Given the description of an element on the screen output the (x, y) to click on. 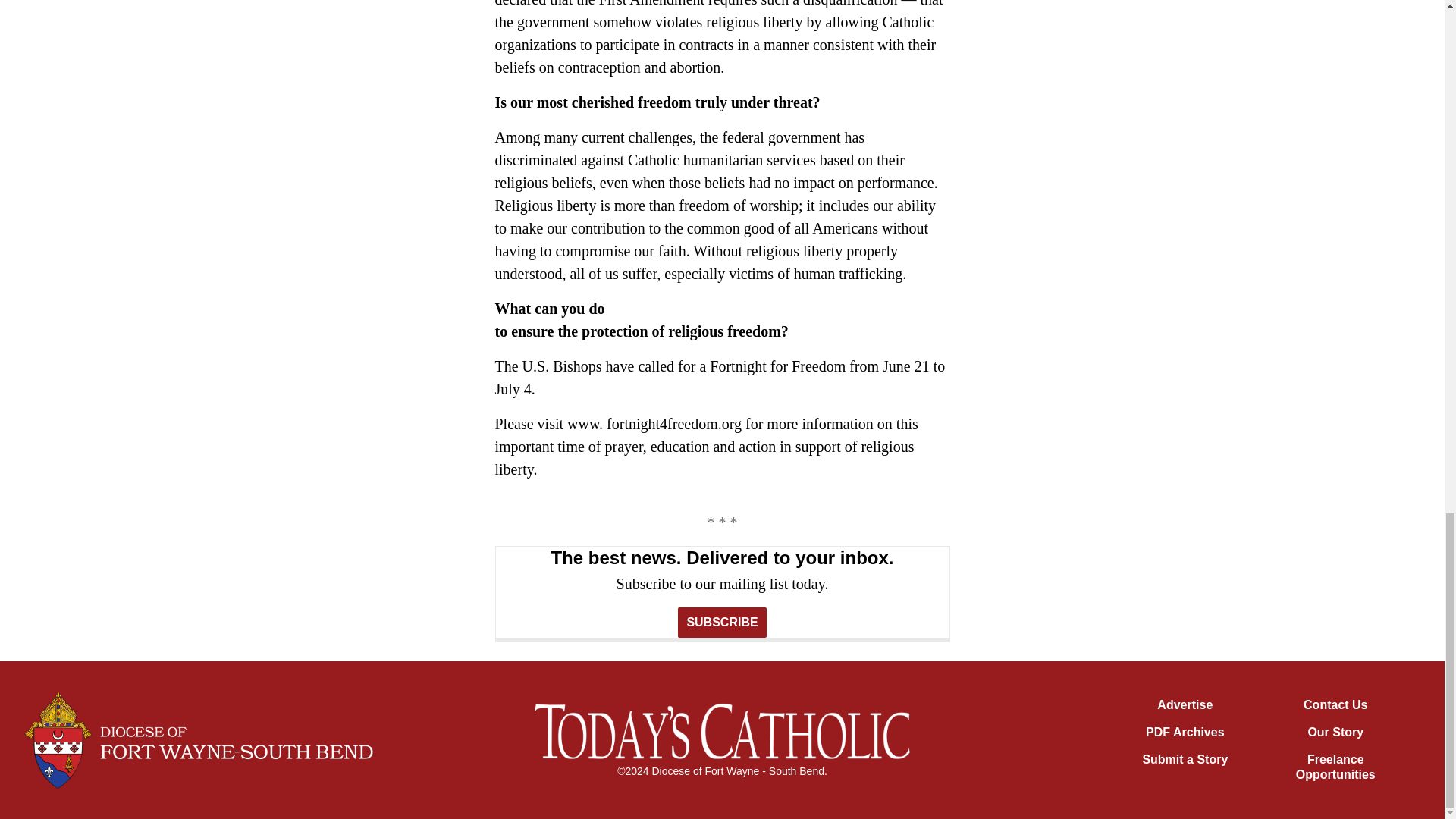
Contact Us (1335, 704)
SUBSCRIBE (722, 622)
PDF Archives (1184, 731)
Submit a Story (1184, 758)
Our Story (1334, 731)
Advertise (1184, 704)
Freelance Opportunities (1335, 766)
